Given the description of an element on the screen output the (x, y) to click on. 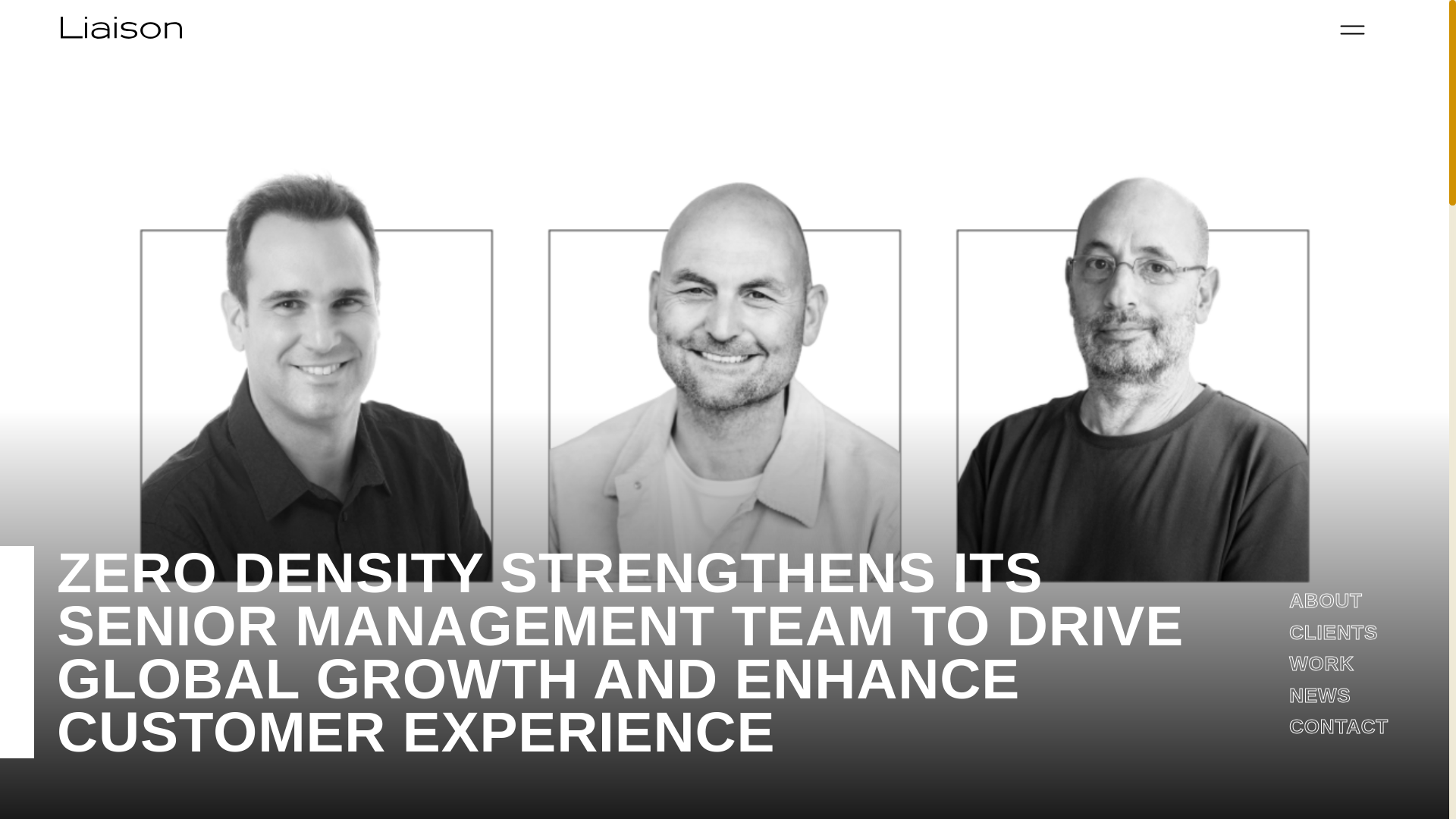
ABOUT (1324, 599)
NEWS (1319, 694)
CONTACT (1338, 725)
CLIENTS (1332, 631)
WORK (1321, 662)
